Given the description of an element on the screen output the (x, y) to click on. 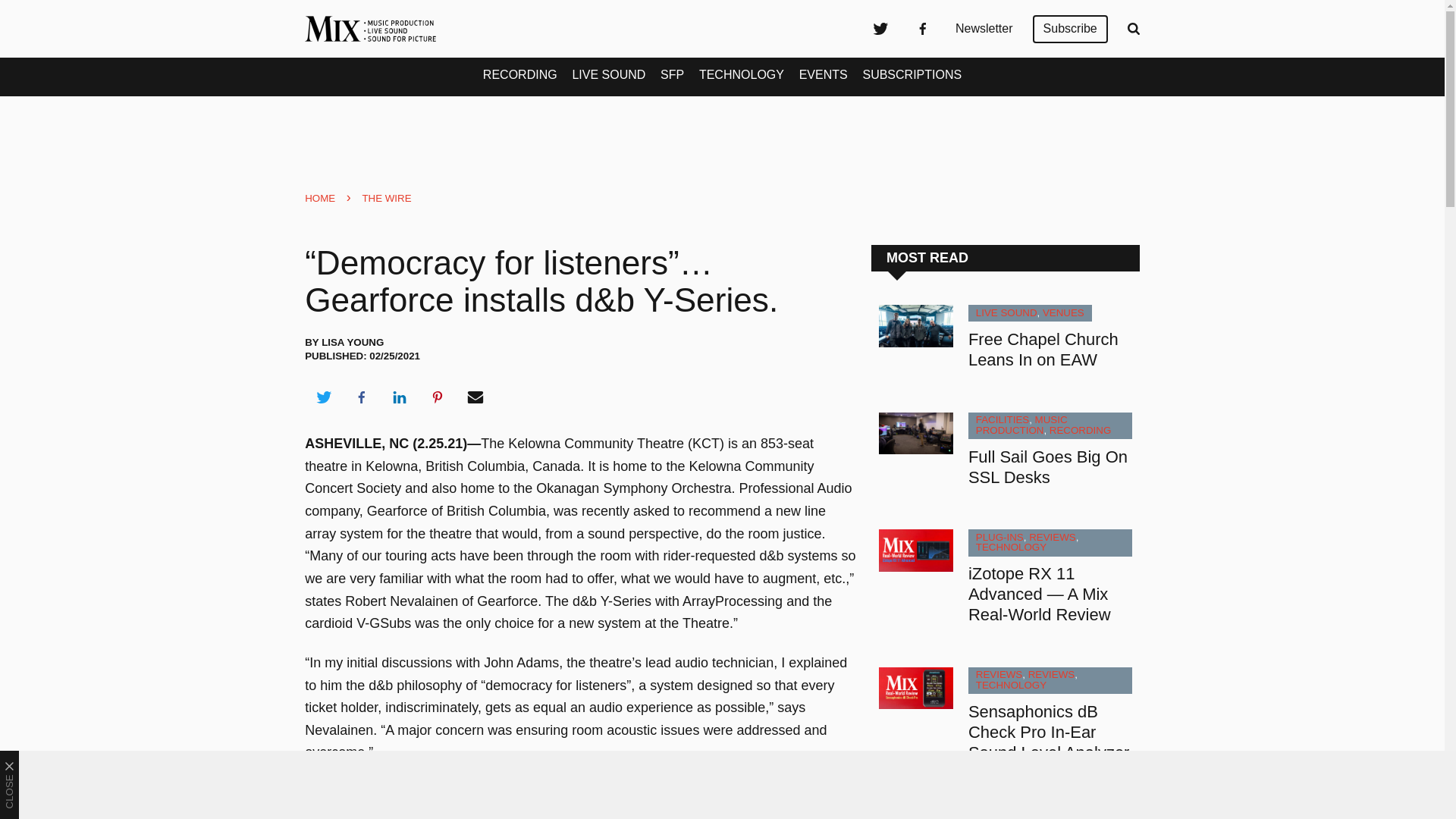
Share on Facebook (361, 397)
Share via Email (476, 397)
Share on Twitter (323, 397)
Share on LinkedIn (399, 397)
Share on Pinterest (438, 397)
